Given the description of an element on the screen output the (x, y) to click on. 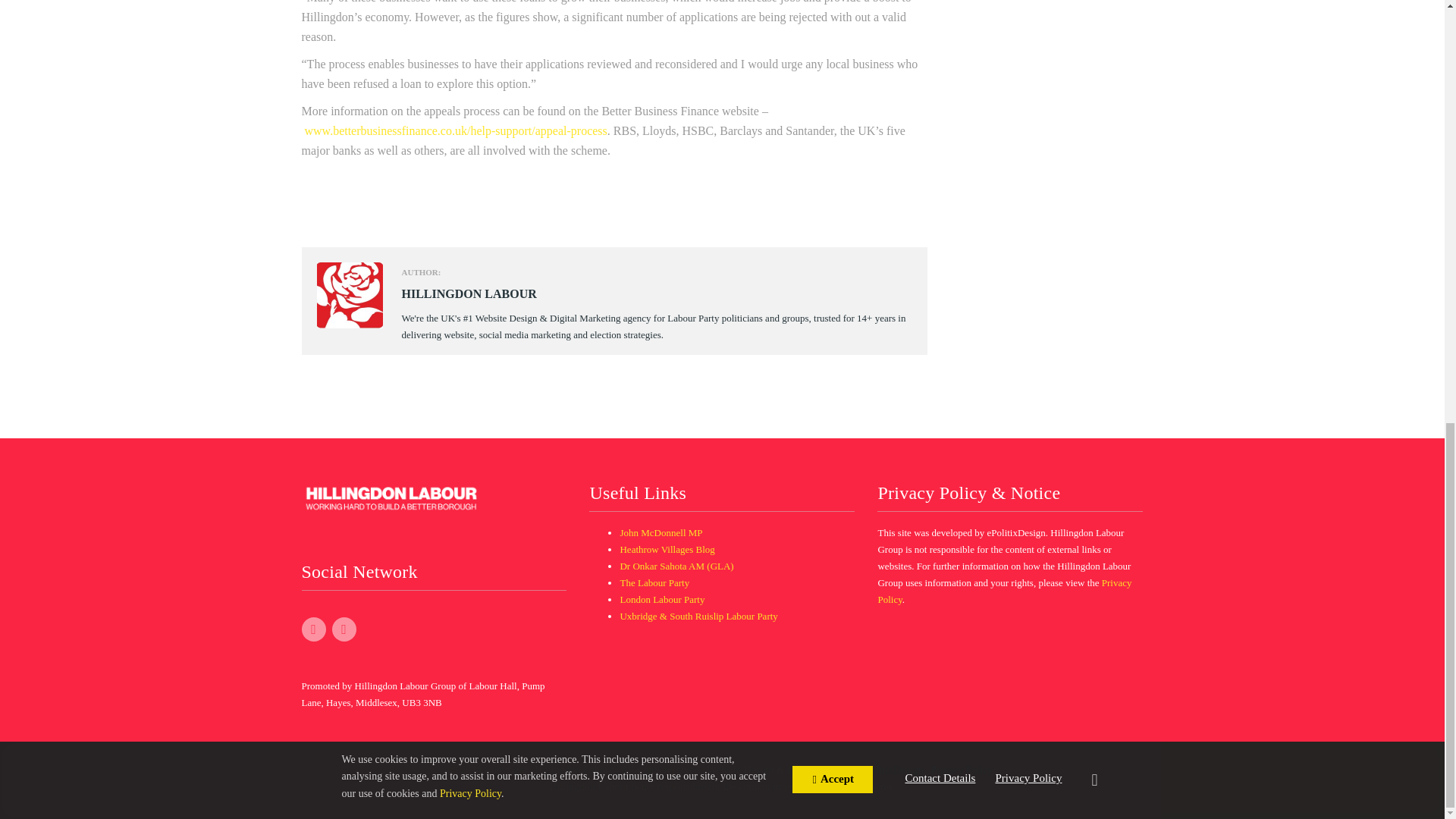
London Labour Party (662, 599)
Heathrow Villages Blog (667, 549)
Heathrow Villages Blog (667, 549)
ePolitixDesign (891, 769)
Privacy Policy (1004, 591)
Privacy Policy (961, 769)
John McDonnell MP (660, 532)
The Labour Party (654, 582)
